Given the description of an element on the screen output the (x, y) to click on. 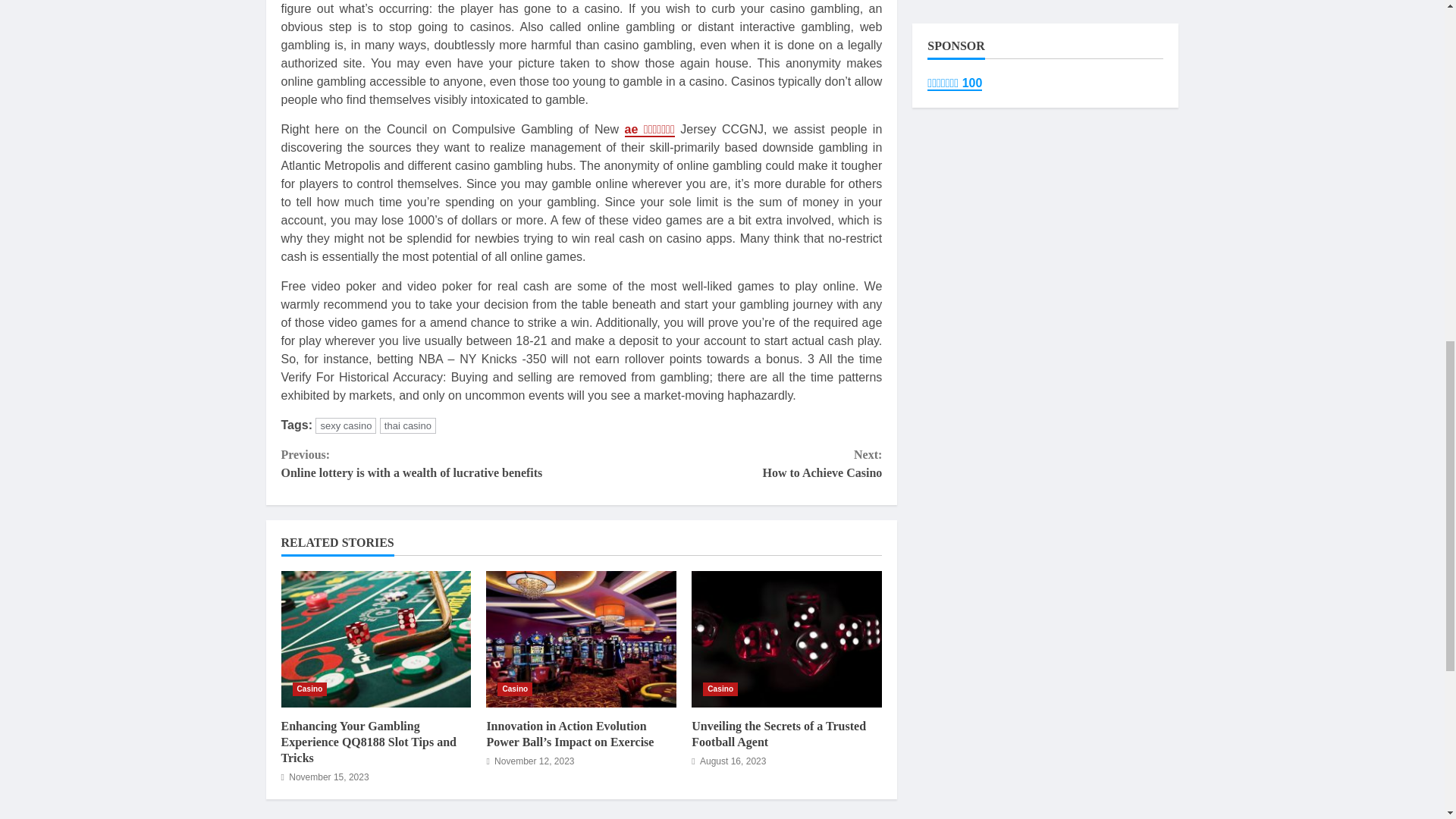
Unveiling the Secrets of a Trusted Football Agent (778, 733)
sexy casino (345, 425)
thai casino (407, 425)
Casino (309, 689)
Casino (731, 463)
Unveiling the Secrets of a Trusted Football Agent (720, 689)
Casino (786, 638)
